Given the description of an element on the screen output the (x, y) to click on. 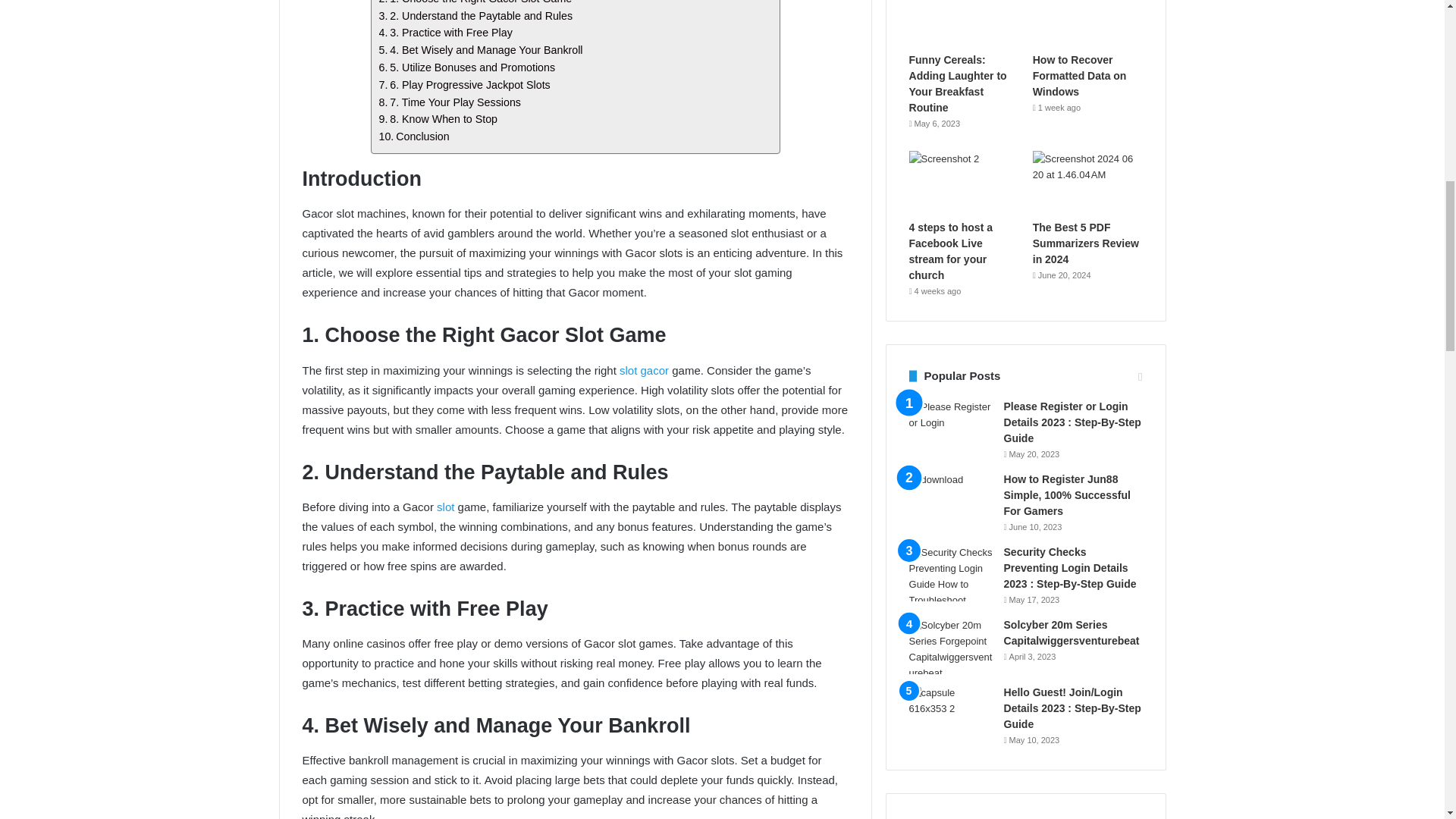
1. Choose the Right Gacor Slot Game (475, 3)
2. Understand the Paytable and Rules (475, 16)
8. Know When to Stop (437, 118)
7. Time Your Play Sessions (449, 102)
Conclusion (413, 136)
2. Understand the Paytable and Rules (475, 16)
slot (445, 506)
1. Choose the Right Gacor Slot Game (475, 3)
5. Utilize Bonuses and Promotions (467, 67)
3. Practice with Free Play (445, 32)
slot gacor (644, 369)
4. Bet Wisely and Manage Your Bankroll (480, 49)
6. Play Progressive Jackpot Slots (464, 85)
3. Practice with Free Play (445, 32)
